Given the description of an element on the screen output the (x, y) to click on. 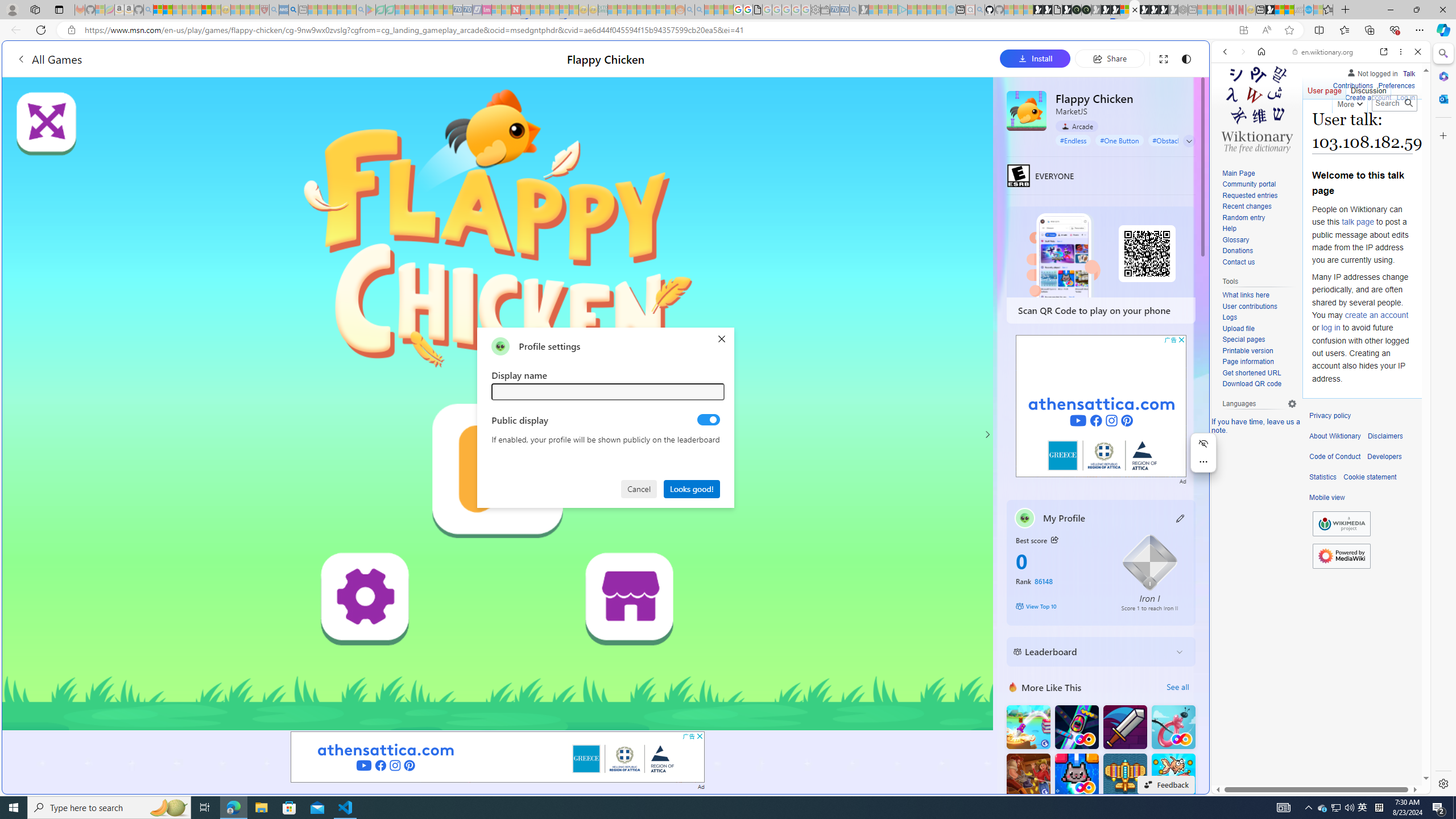
MSNBC - MSN - Sleeping (611, 9)
Search Filter, WEB (1230, 129)
Help (1228, 228)
Language settings (1292, 403)
Arcade (1076, 126)
User contributions (1259, 306)
Global web icon (1232, 786)
Bluey: Let's Play! - Apps on Google Play - Sleeping (370, 9)
google_privacy_policy_zh-CN.pdf (1118, 683)
google - Search - Sleeping (360, 9)
Privacy policy (1329, 415)
